Given the description of an element on the screen output the (x, y) to click on. 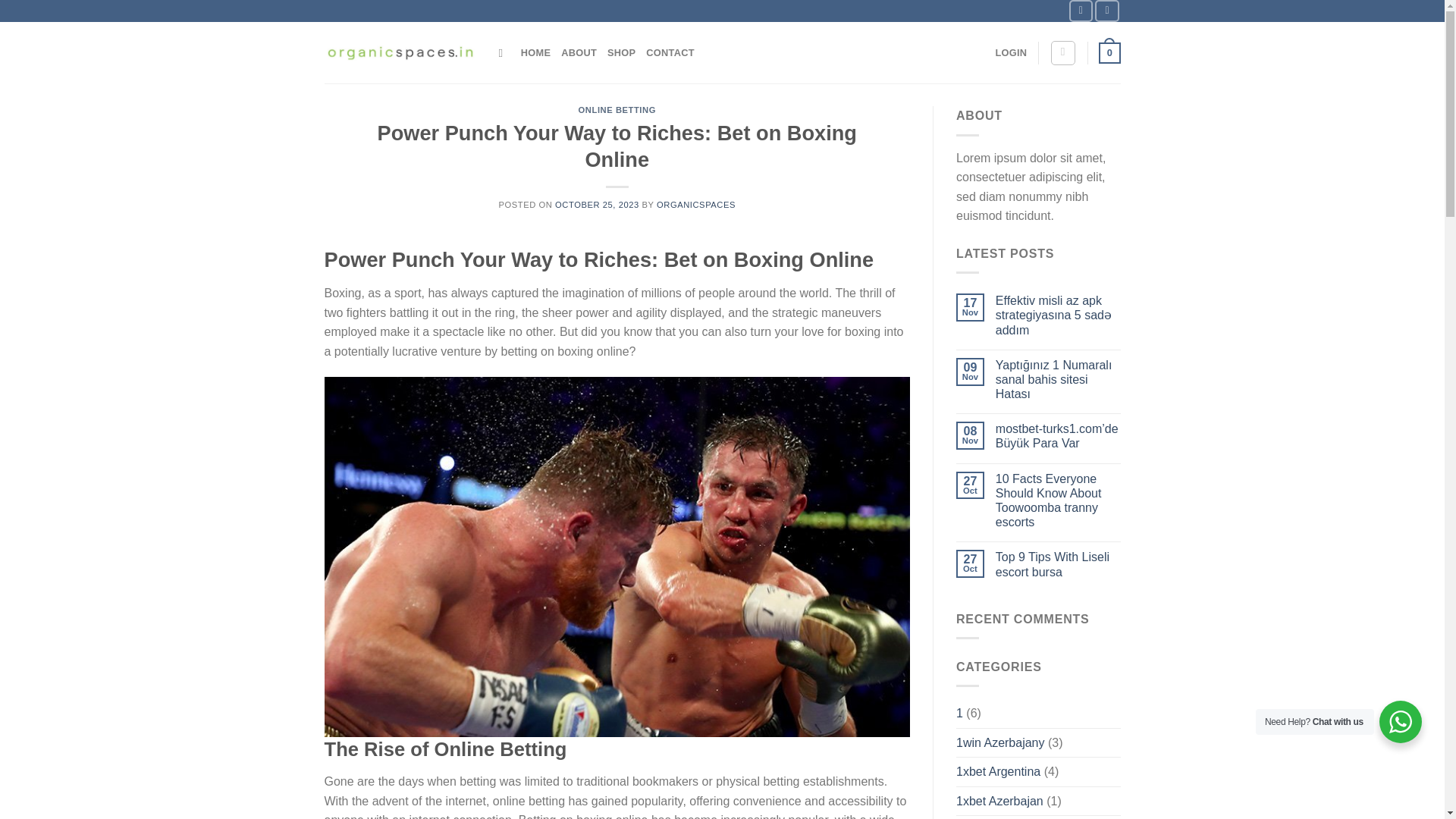
1win Azerbajany (1000, 742)
HOME (535, 52)
ABOUT (578, 52)
10 Facts Everyone Should Know About Toowoomba tranny escorts (1058, 500)
OCTOBER 25, 2023 (596, 204)
ORGANICSPACES (695, 204)
Organicspaces (400, 53)
10 Facts Everyone Should Know About Toowoomba tranny escorts (1058, 500)
SHOP (620, 52)
Follow on Facebook (1080, 11)
Follow on Instagram (1106, 11)
LOGIN (1010, 52)
CONTACT (670, 52)
ONLINE BETTING (617, 109)
